Given the description of an element on the screen output the (x, y) to click on. 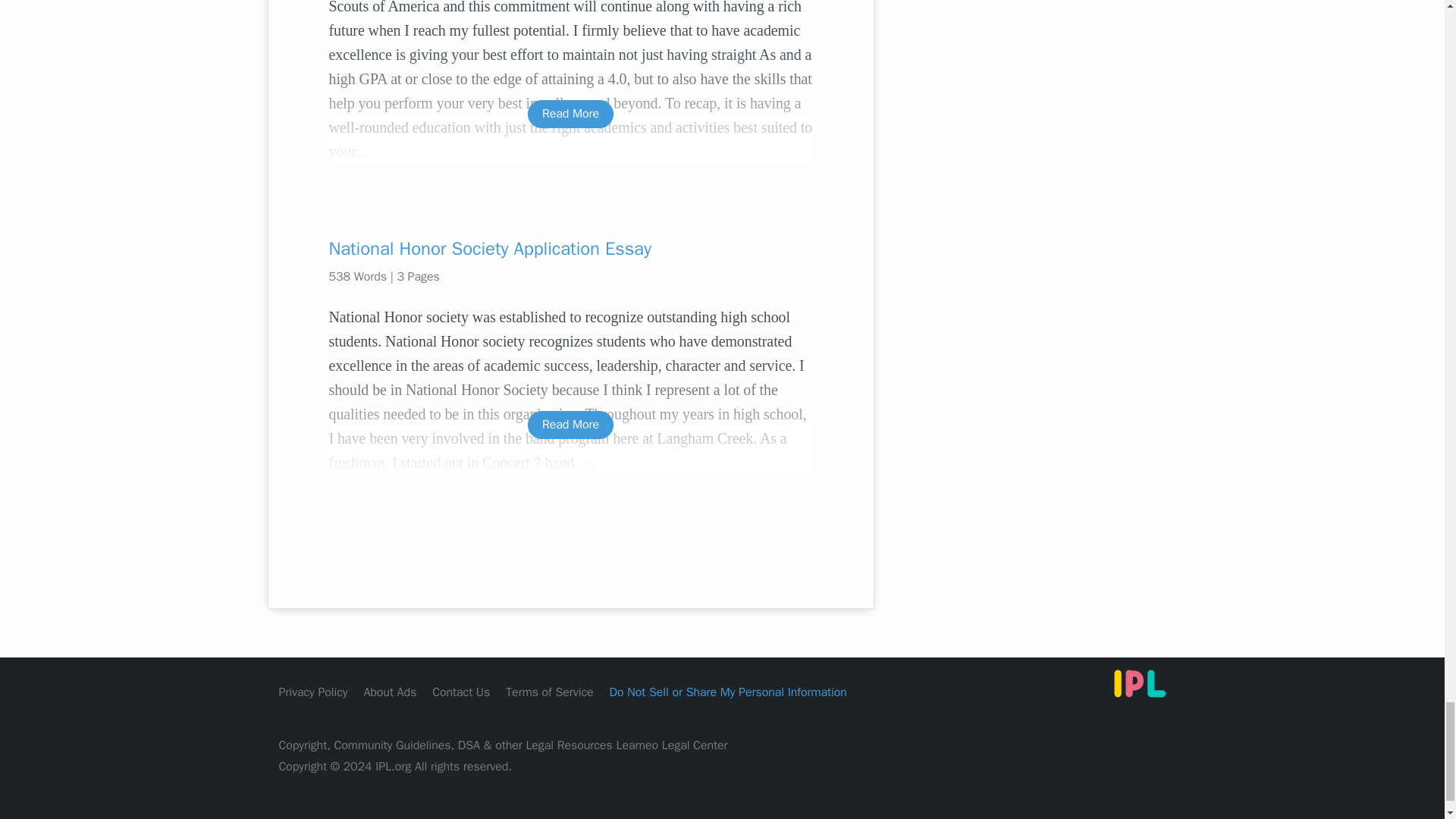
About Ads (389, 692)
Contact Us (460, 692)
Terms of Service (548, 692)
Privacy Policy (313, 692)
